Given the description of an element on the screen output the (x, y) to click on. 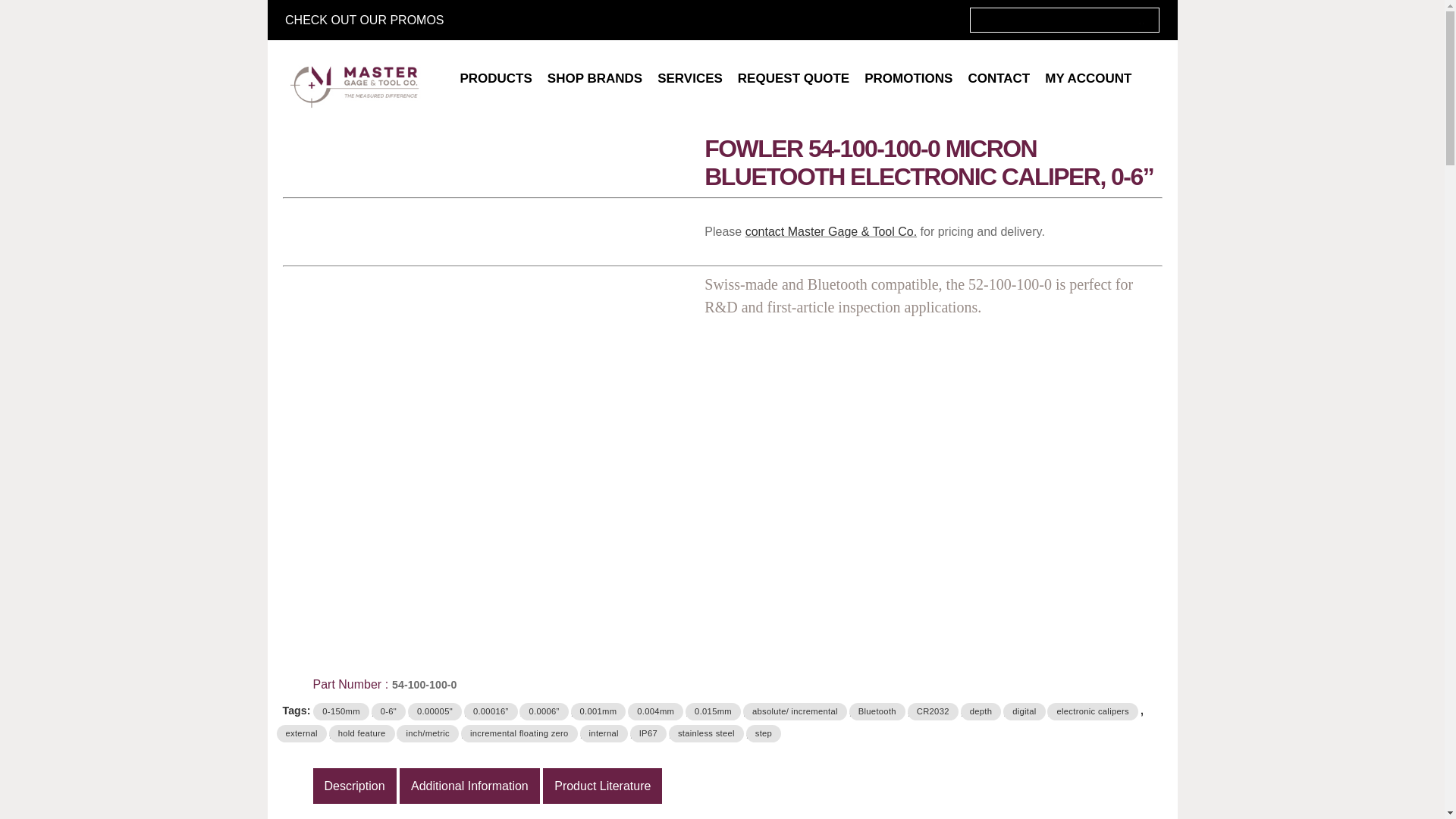
0.00005" (434, 711)
.. (1141, 19)
0-150mm (340, 711)
0-6" (388, 711)
CONTACT (997, 79)
PROMOTIONS (908, 79)
SERVICES (689, 79)
0.015mm (713, 711)
MY ACCOUNT (1087, 79)
0.004mm (654, 711)
SHOP BRANDS (594, 79)
REQUEST QUOTE (793, 79)
PRODUCTS (494, 79)
CHECK OUT OUR PROMOS (364, 19)
0.001mm (598, 711)
